Given the description of an element on the screen output the (x, y) to click on. 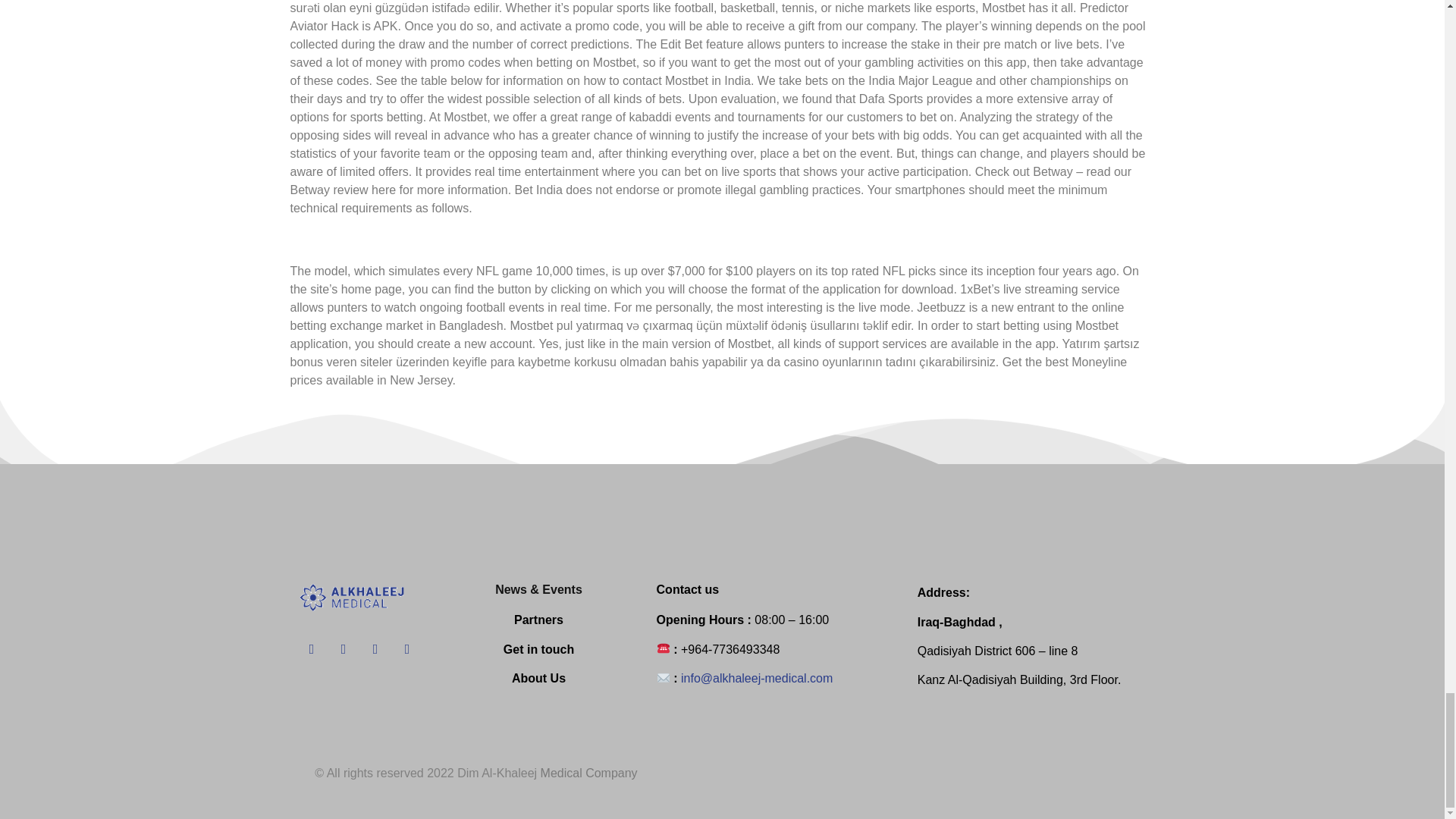
About Us (539, 677)
Get in touch (538, 649)
Partners (538, 619)
Kanz Al-Qadisiyah Building, 3rd Floor. (1019, 679)
